Given the description of an element on the screen output the (x, y) to click on. 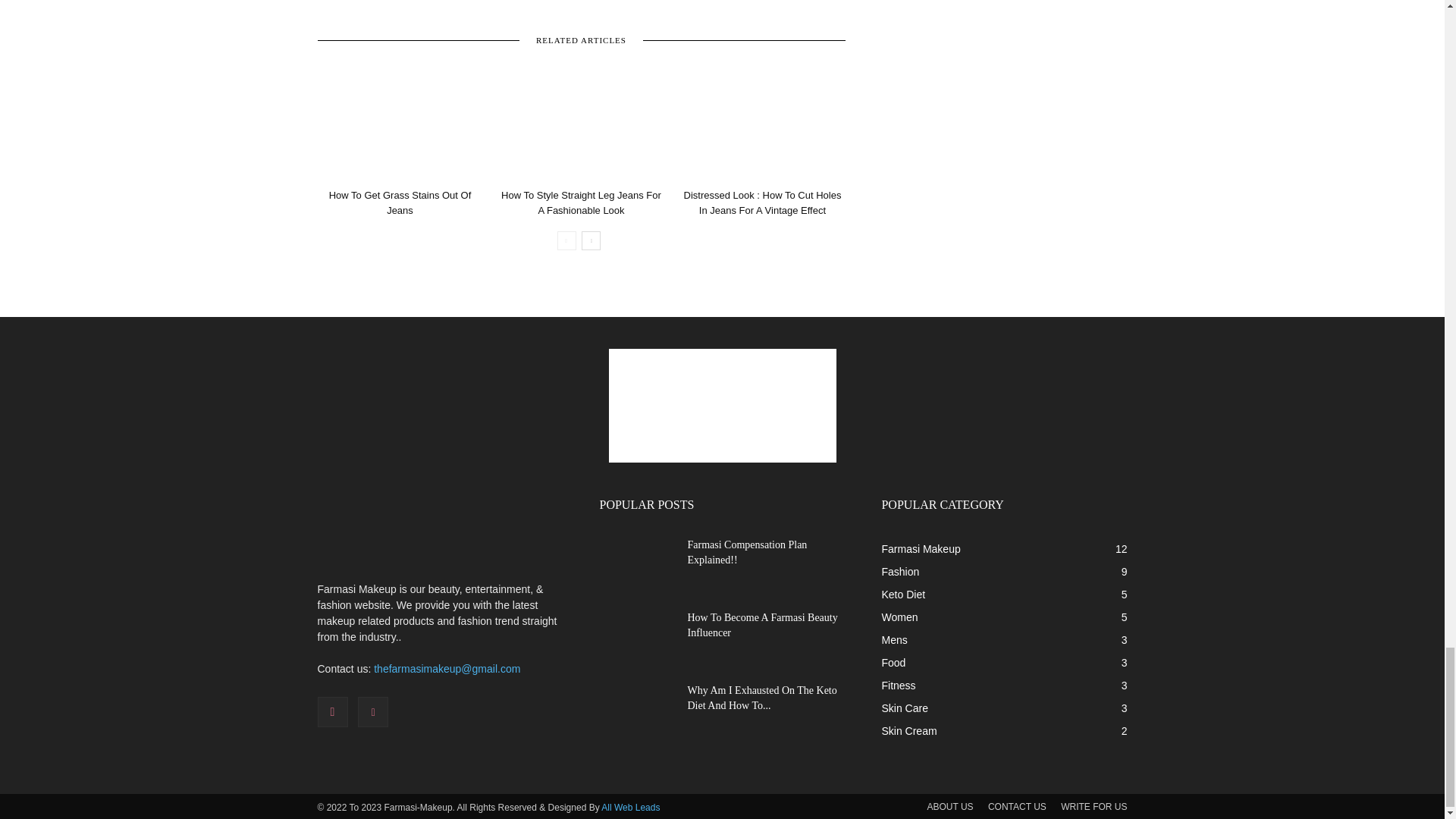
How To Get Grass Stains Out Of Jeans (400, 202)
How To Get Grass Stains Out Of Jeans (399, 125)
